Given the description of an element on the screen output the (x, y) to click on. 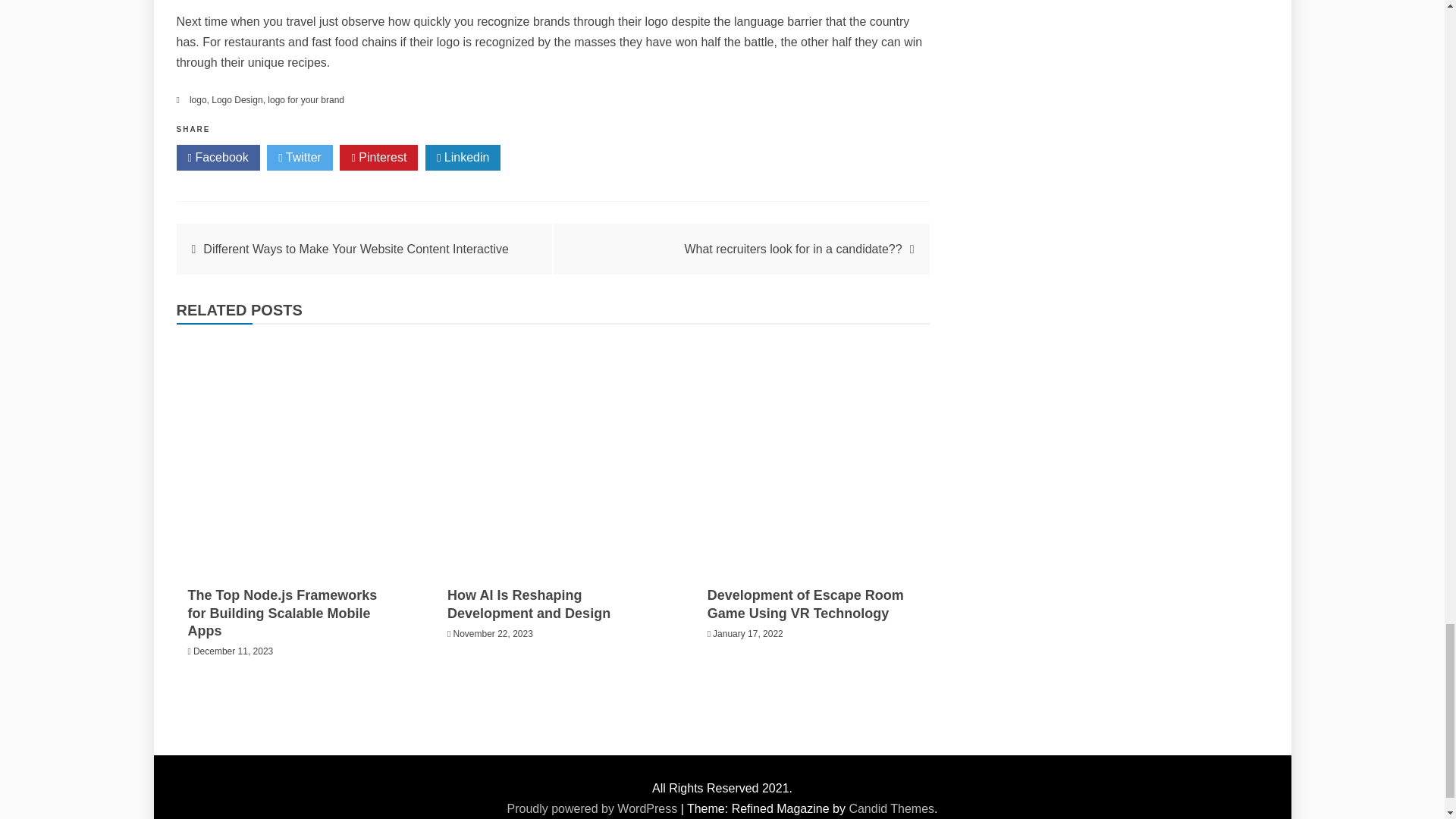
Twitter (299, 157)
logo for your brand (305, 100)
logo (197, 100)
Facebook (217, 157)
Linkedin (462, 157)
Logo Design (236, 100)
Pinterest (378, 157)
